Given the description of an element on the screen output the (x, y) to click on. 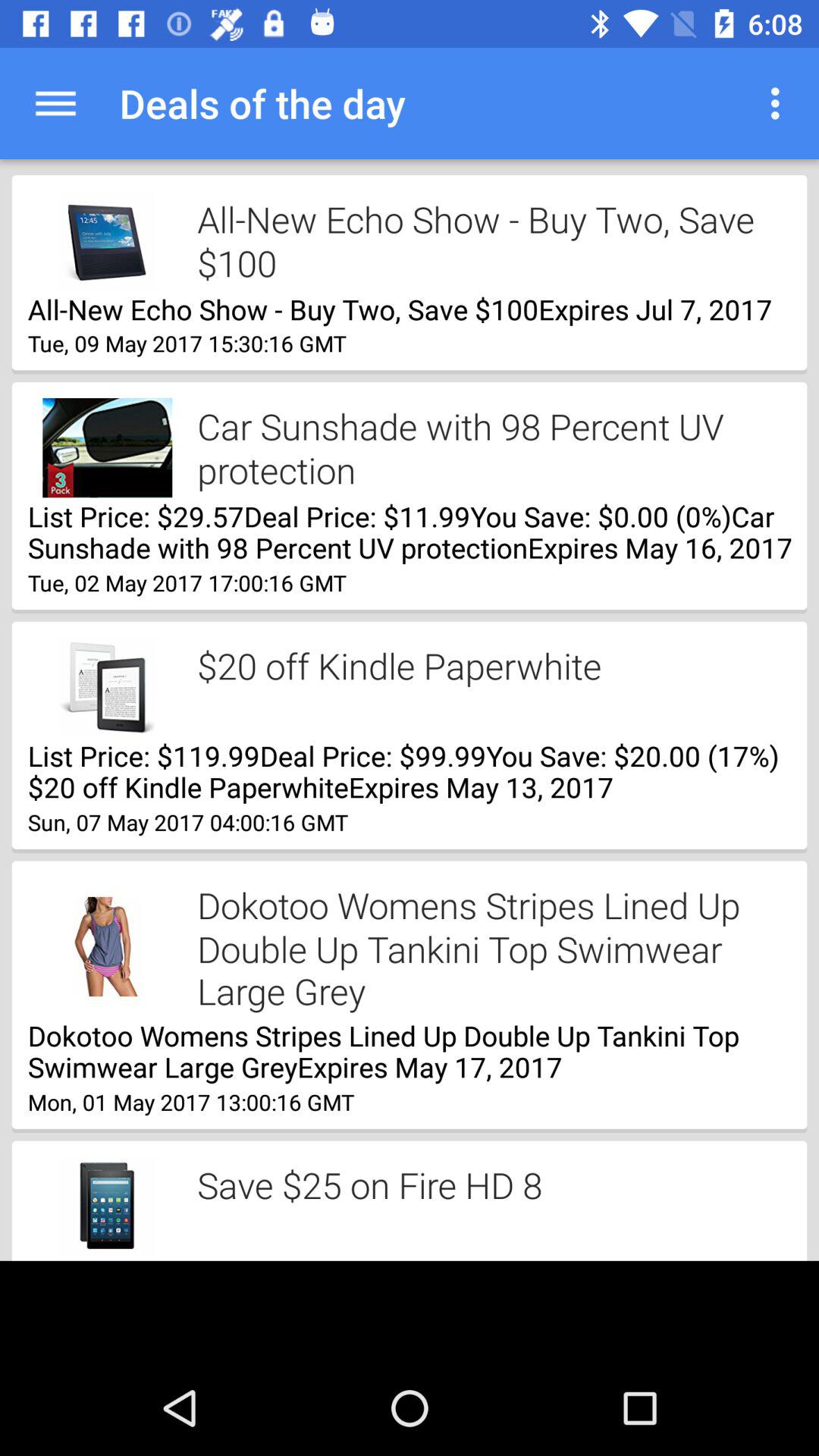
select menu (779, 103)
click on the second image from down (107, 945)
select first image from bottom (107, 1206)
